Given the description of an element on the screen output the (x, y) to click on. 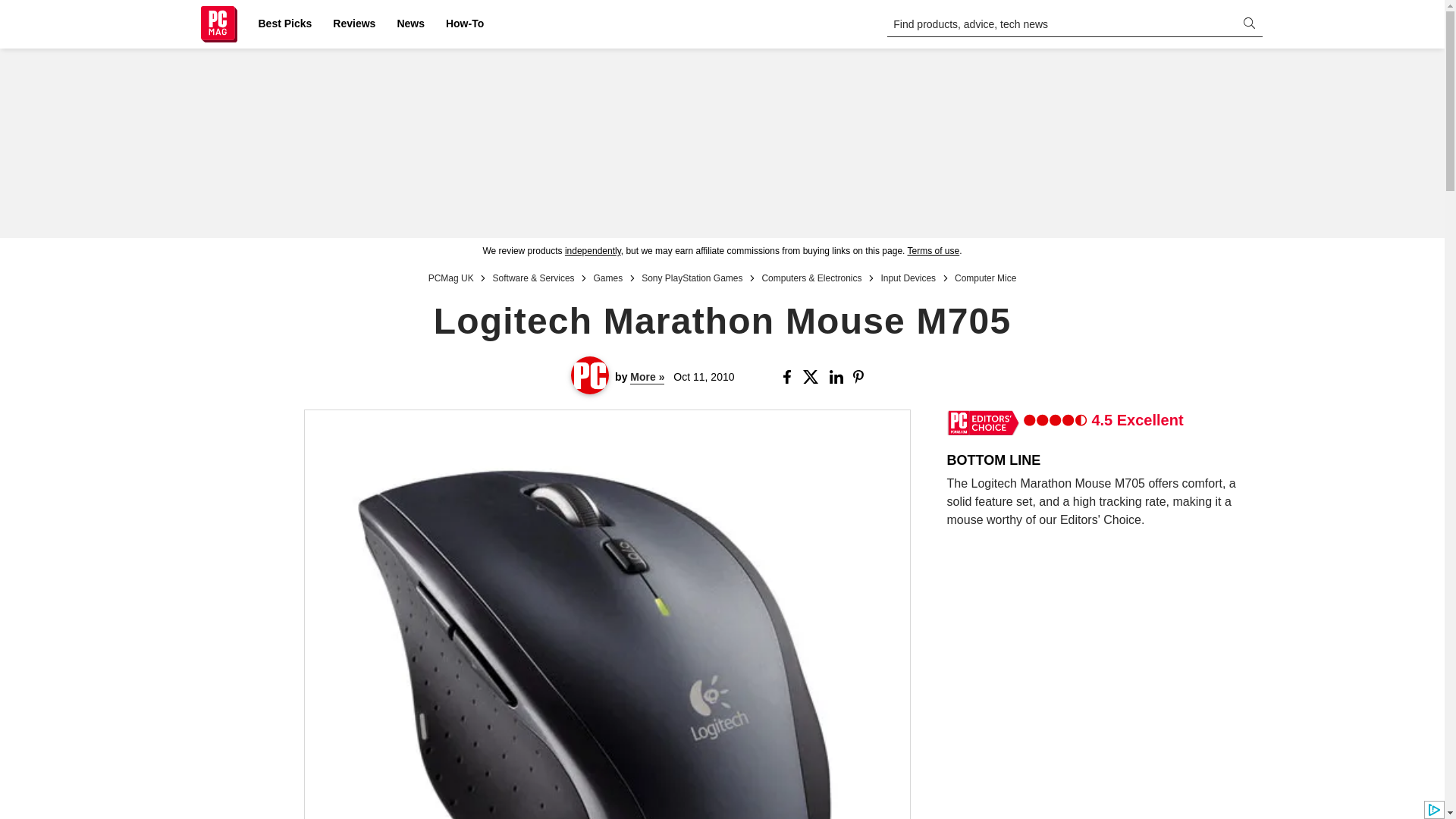
Share this Story on Linkedin (838, 377)
Best Picks (284, 24)
Share this Story on X (813, 377)
Share this Story on Pinterest (863, 377)
Share this Story on Facebook (789, 377)
